Given the description of an element on the screen output the (x, y) to click on. 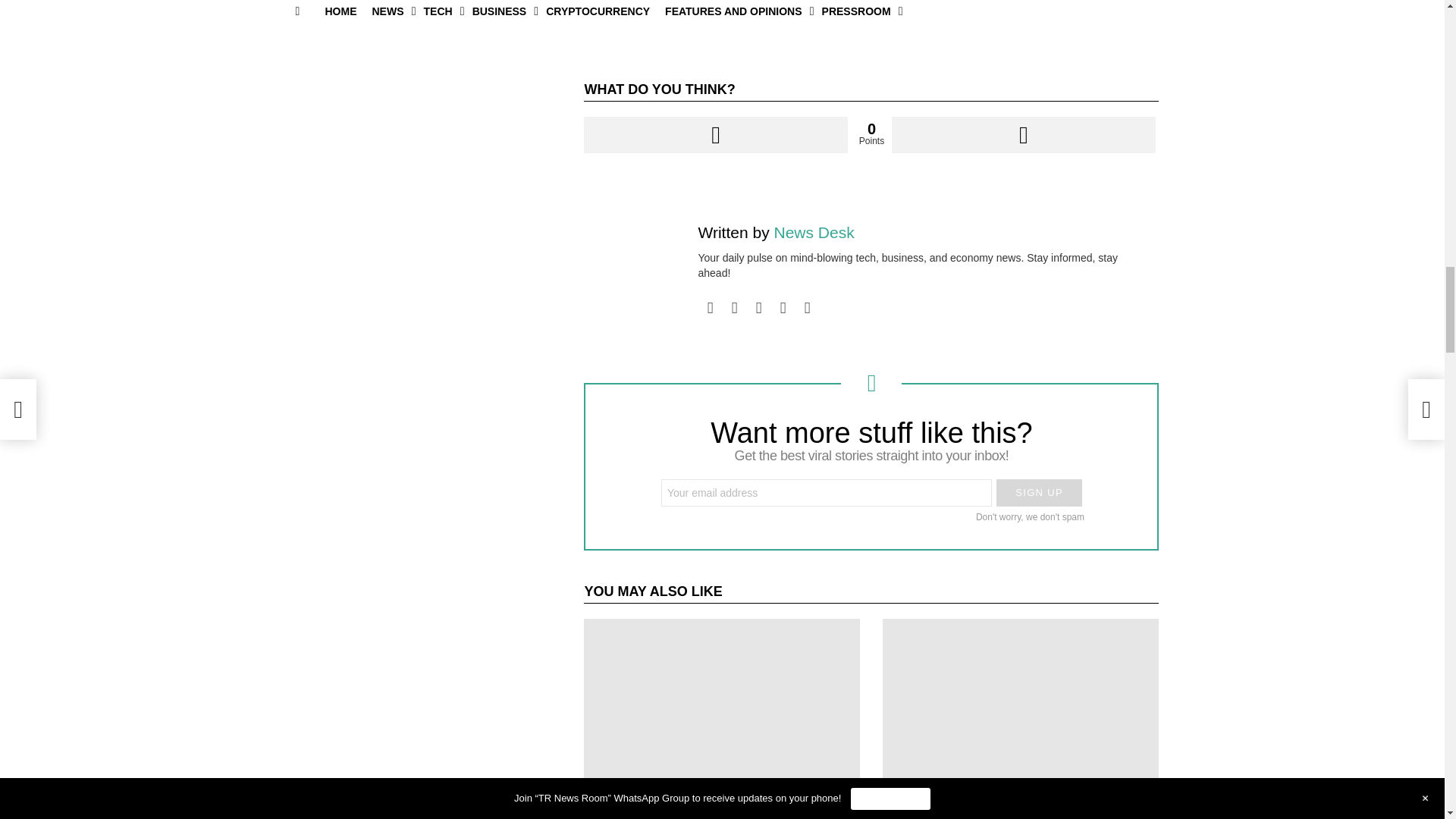
Sign up (1038, 492)
Downvote (1022, 135)
Upvote (715, 135)
